Given the description of an element on the screen output the (x, y) to click on. 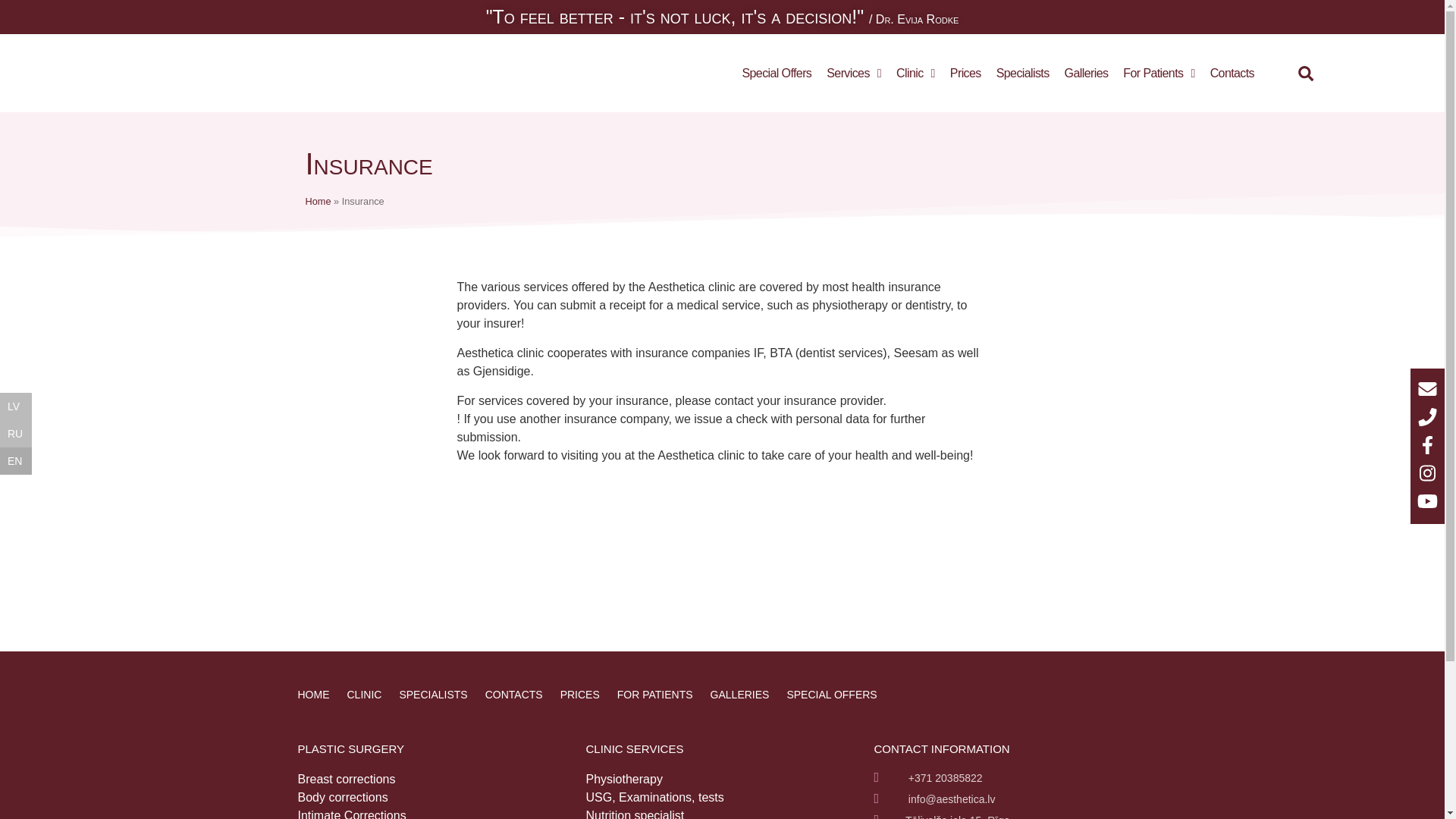
Clinic (915, 73)
Special Offers (775, 73)
Services (853, 73)
